Given the description of an element on the screen output the (x, y) to click on. 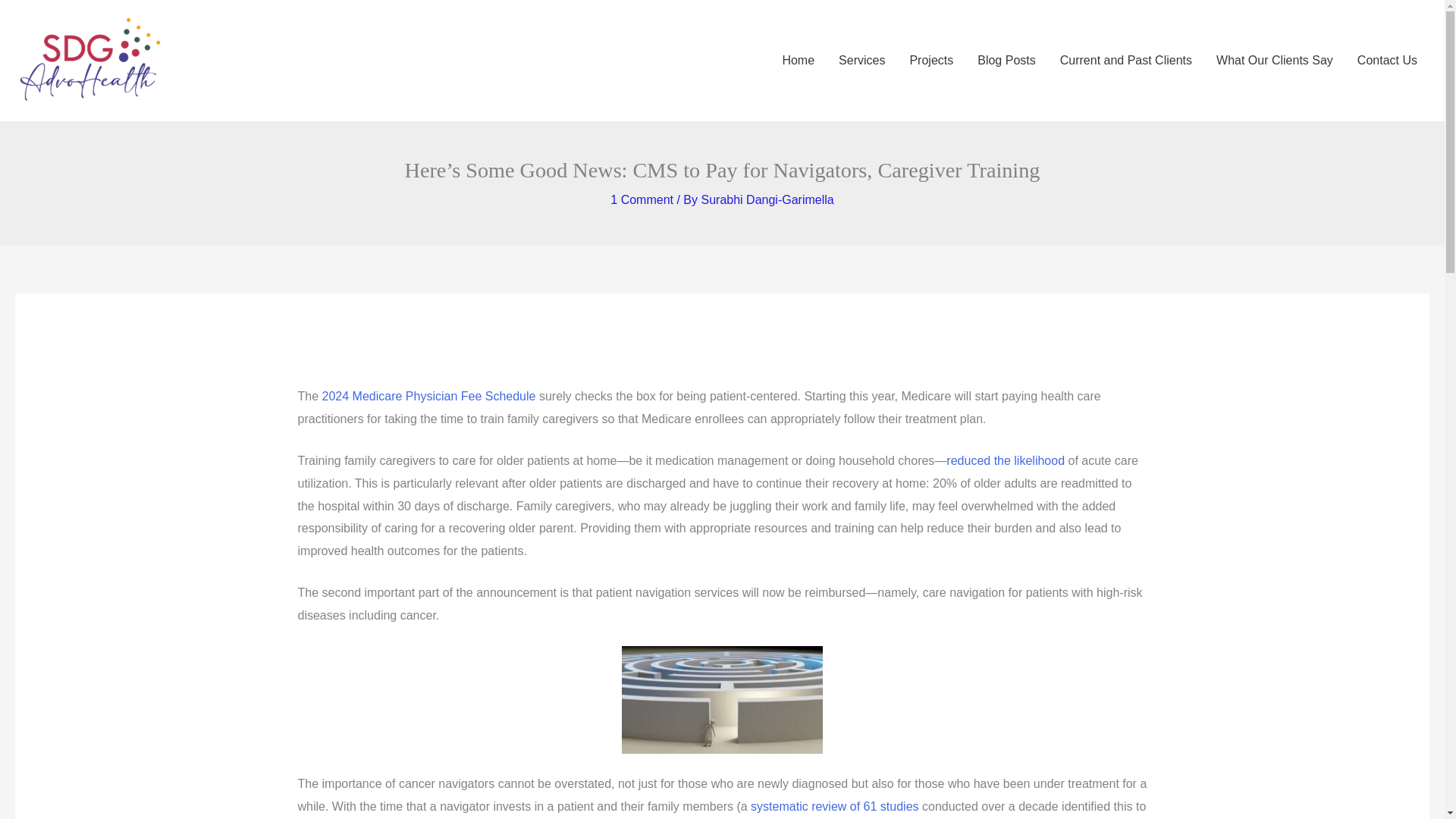
Current and Past Clients (1126, 60)
View all posts by Surabhi Dangi-Garimella (766, 199)
Services (861, 60)
reduced the likelihood (1005, 460)
What Our Clients Say (1274, 60)
Projects (930, 60)
Contact Us (1387, 60)
2024 Medicare Physician Fee Schedule (428, 395)
Surabhi Dangi-Garimella (766, 199)
systematic review of 61 studies (834, 806)
